Given the description of an element on the screen output the (x, y) to click on. 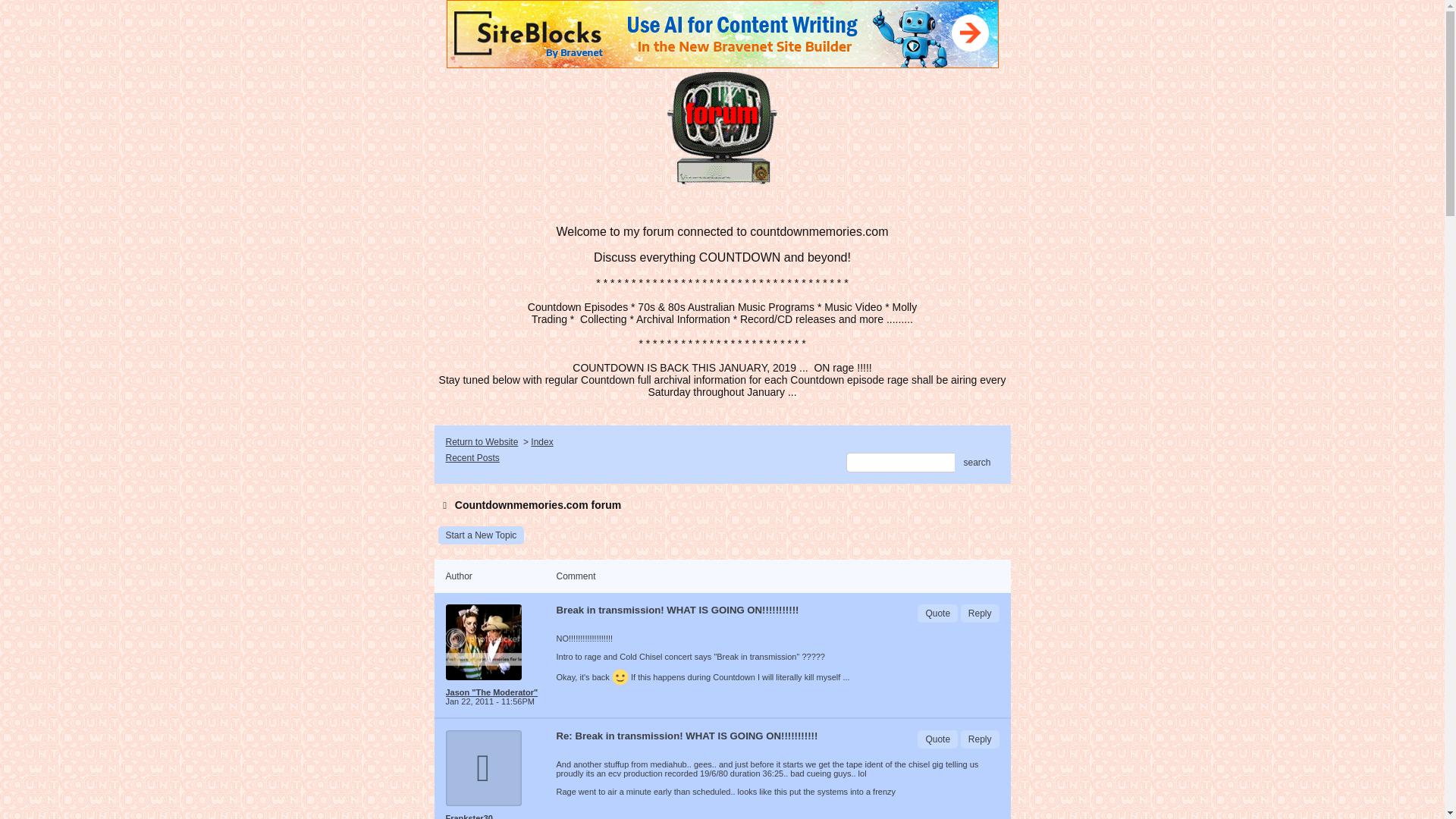
Recent Posts (472, 457)
search (976, 462)
Start a New Topic (481, 535)
Return to Website (481, 441)
Jason "The Moderator" (494, 691)
Index (542, 441)
Reply (979, 613)
Quote (937, 739)
AI Website Builder Siteblocks (721, 33)
Quote (937, 613)
Frankster30 (494, 816)
Messages from this User (469, 816)
Messages from this User (491, 691)
Reply (979, 739)
